Given the description of an element on the screen output the (x, y) to click on. 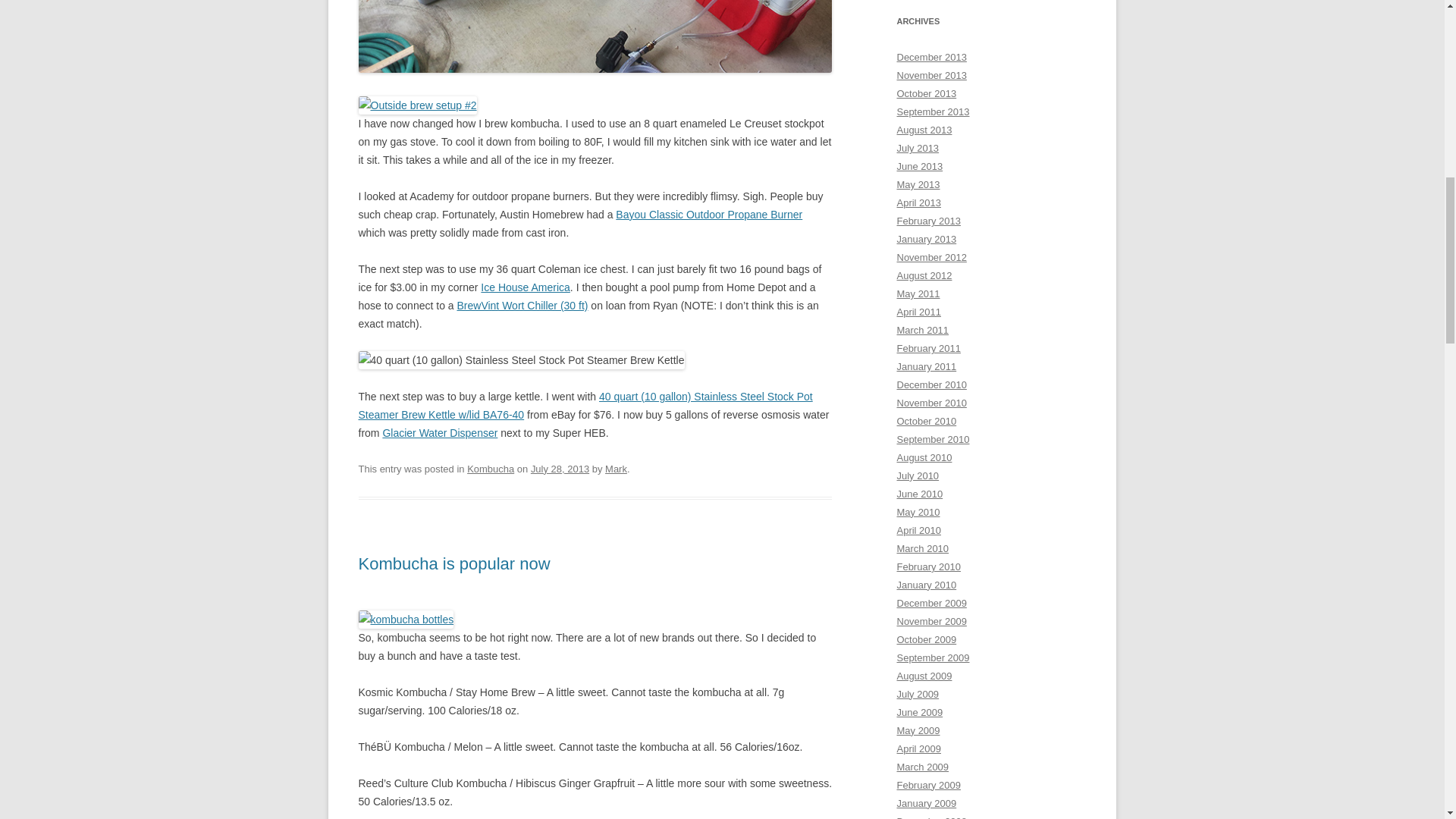
Bayou Classic Outdoor Propane Burner (708, 214)
Mark (616, 469)
Ice House America (525, 287)
Glacier Water Dispenser (439, 432)
View all posts by Mark (616, 469)
Kombucha (490, 469)
July 28, 2013 (560, 469)
4:35 pm (560, 469)
Kombucha is popular now (454, 563)
